Given the description of an element on the screen output the (x, y) to click on. 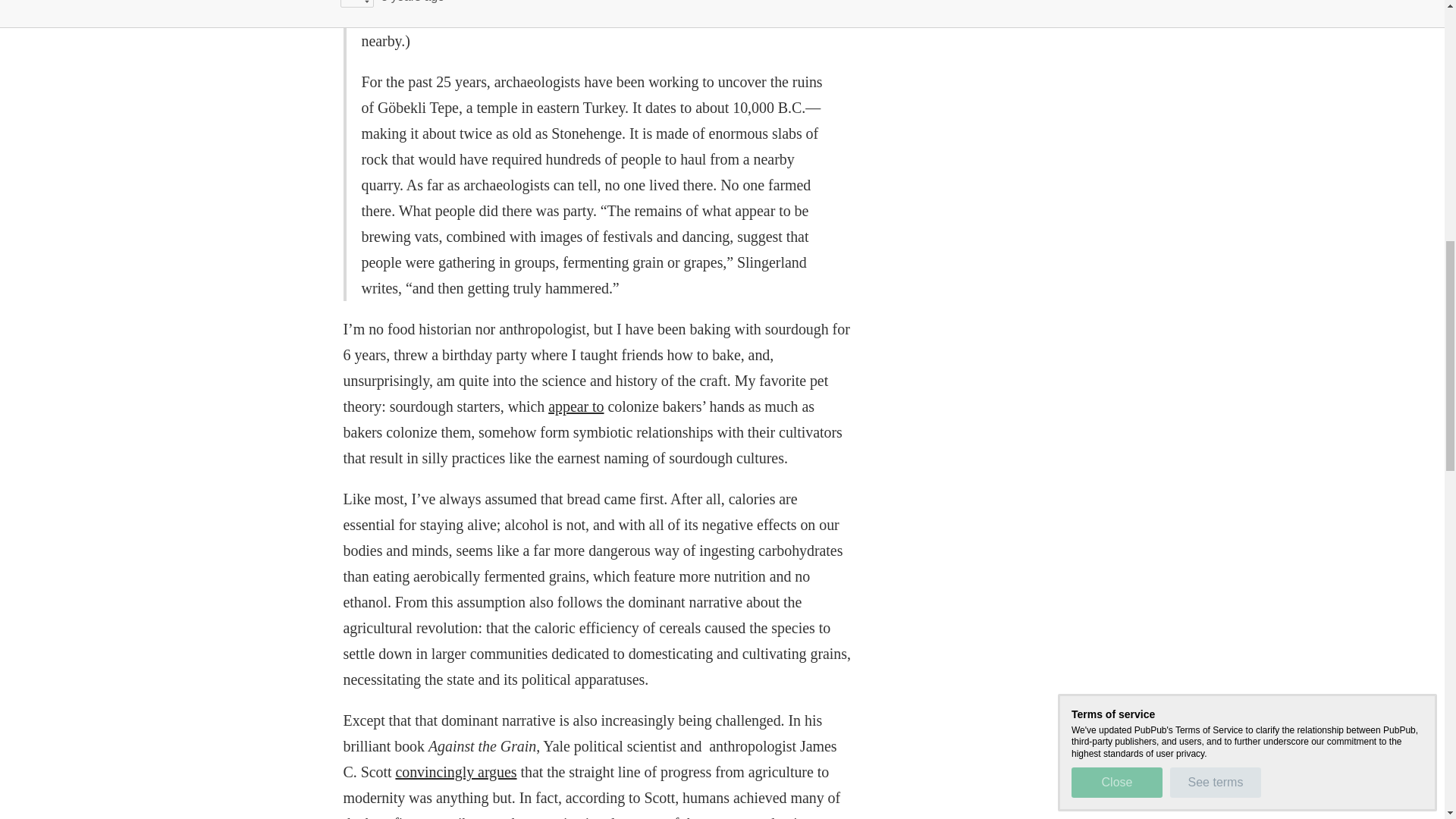
convincingly argues (455, 771)
appear to (576, 406)
